Given the description of an element on the screen output the (x, y) to click on. 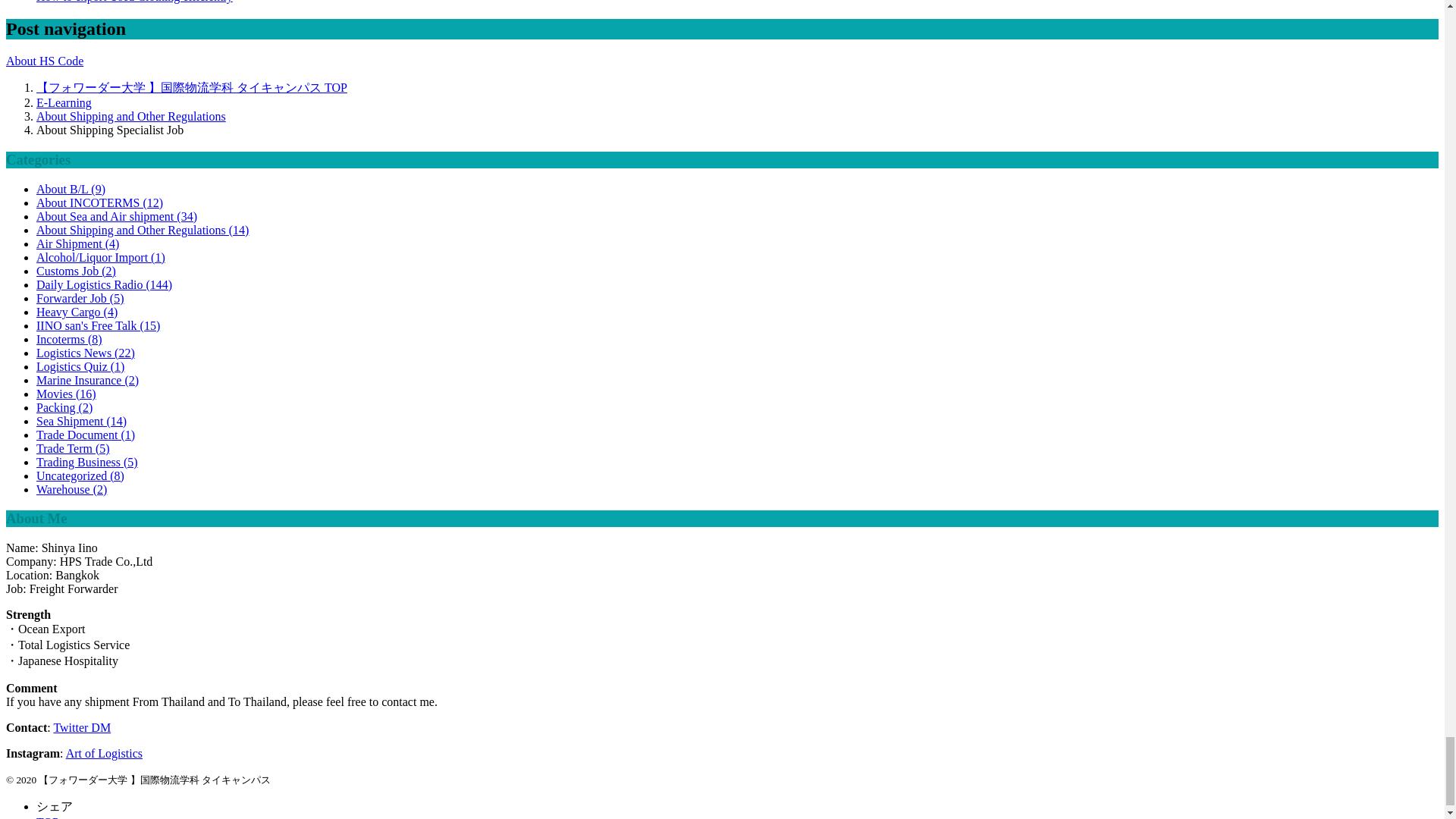
How to export Used Clothing efficiently (134, 1)
E-Learning (63, 102)
About Shipping and Other Regulations (130, 115)
How to export Used Clothing efficiently (134, 1)
About HS Code (43, 60)
